Given the description of an element on the screen output the (x, y) to click on. 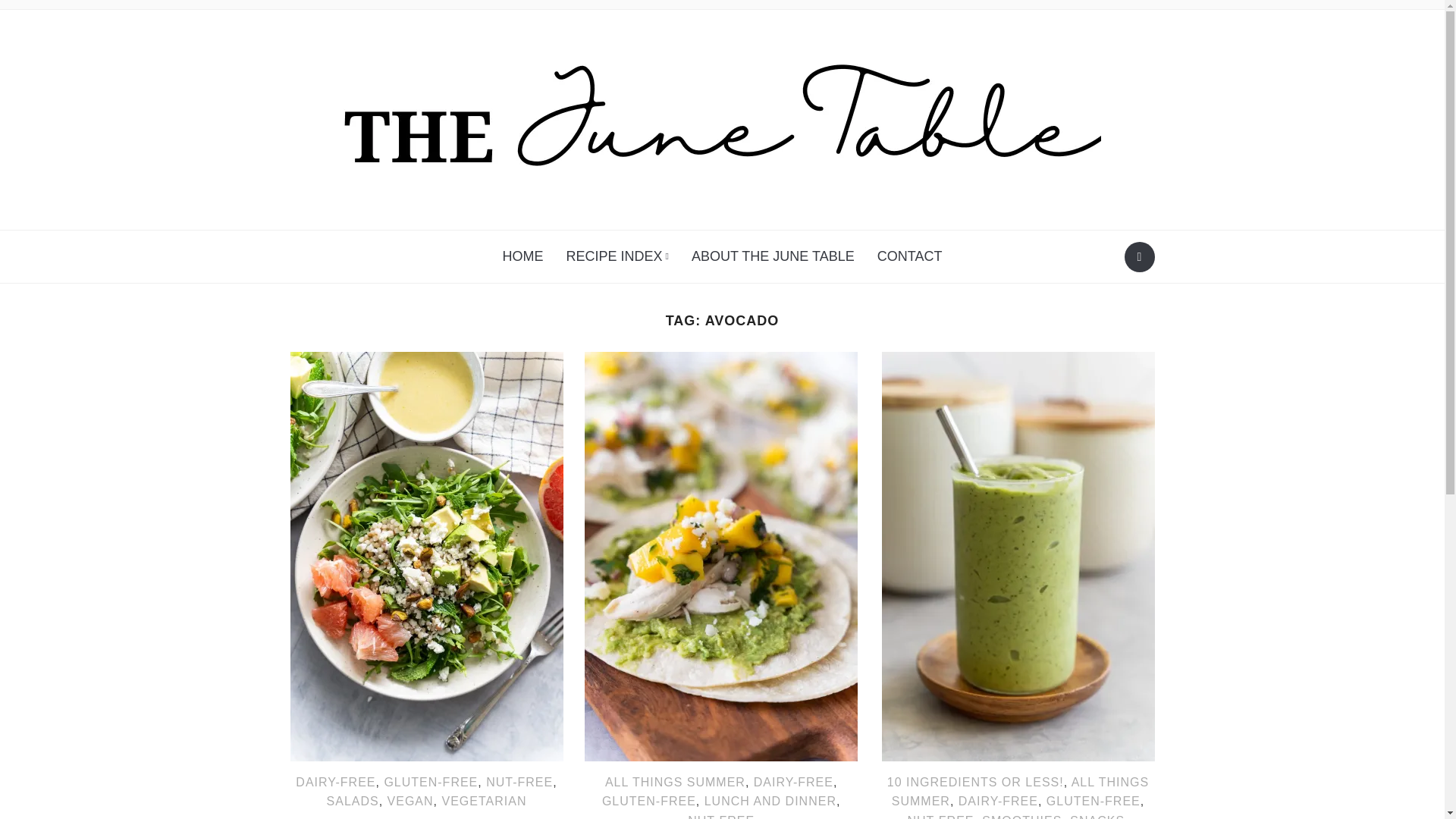
Gorgeous Grapefruit Salad with Pearl Couscous (425, 554)
Easy Rotisserie Chicken Tacos with Mango Salsa (721, 554)
Search (1139, 256)
